Given the description of an element on the screen output the (x, y) to click on. 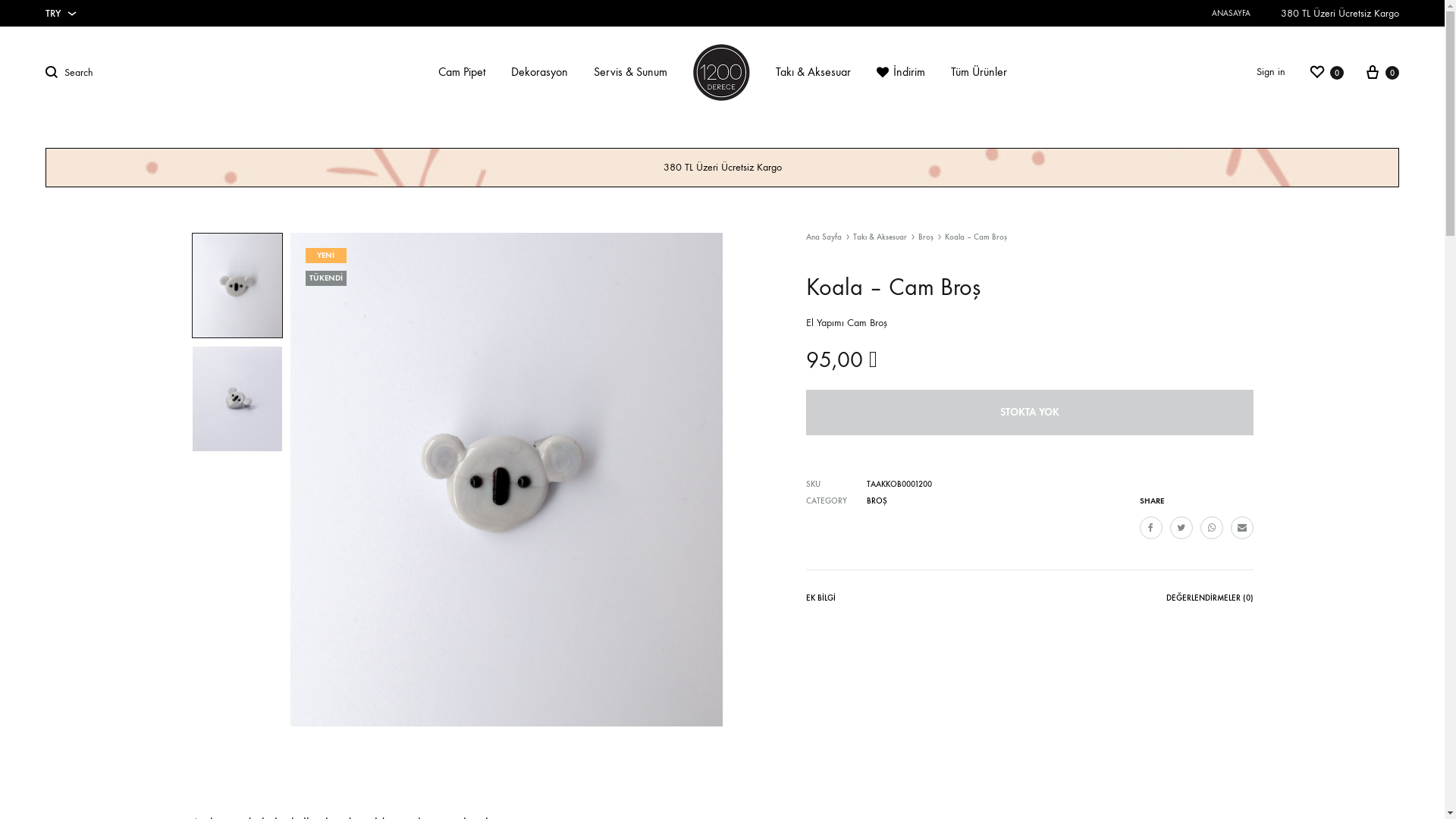
Cam Pipet Element type: text (461, 71)
Sign in Element type: text (1270, 71)
koala-pin-1 Element type: hover (505, 479)
Servis & Sunum Element type: text (629, 71)
Wishlist
0 Element type: text (1325, 71)
Ana Sayfa Element type: text (822, 236)
Cart
0 Element type: text (1381, 71)
EK BILGI Element type: text (819, 600)
ANASAYFA Element type: text (1230, 12)
Dekorasyon Element type: text (539, 71)
